Given the description of an element on the screen output the (x, y) to click on. 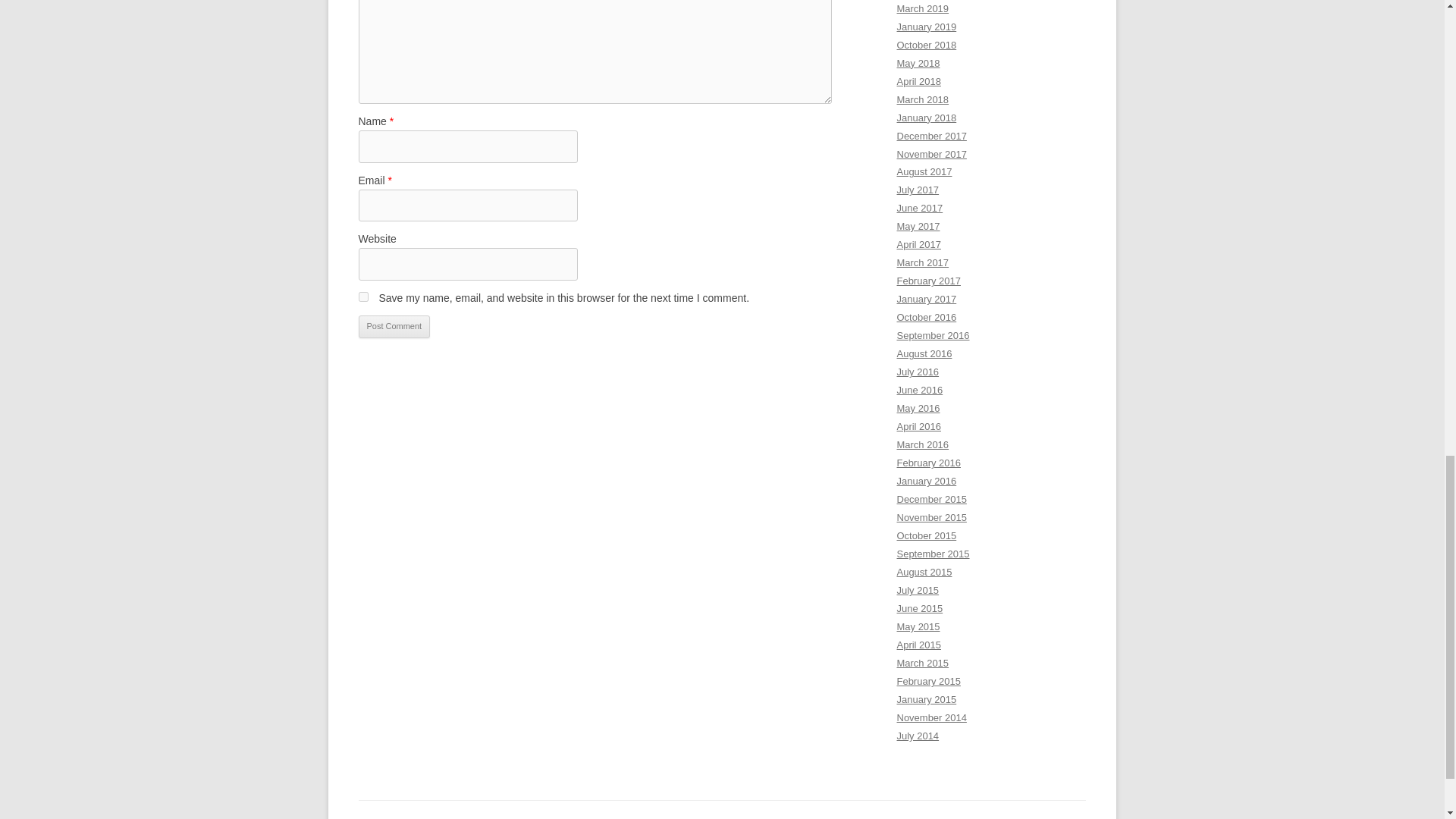
yes (363, 296)
Post Comment (393, 326)
Post Comment (393, 326)
